Given the description of an element on the screen output the (x, y) to click on. 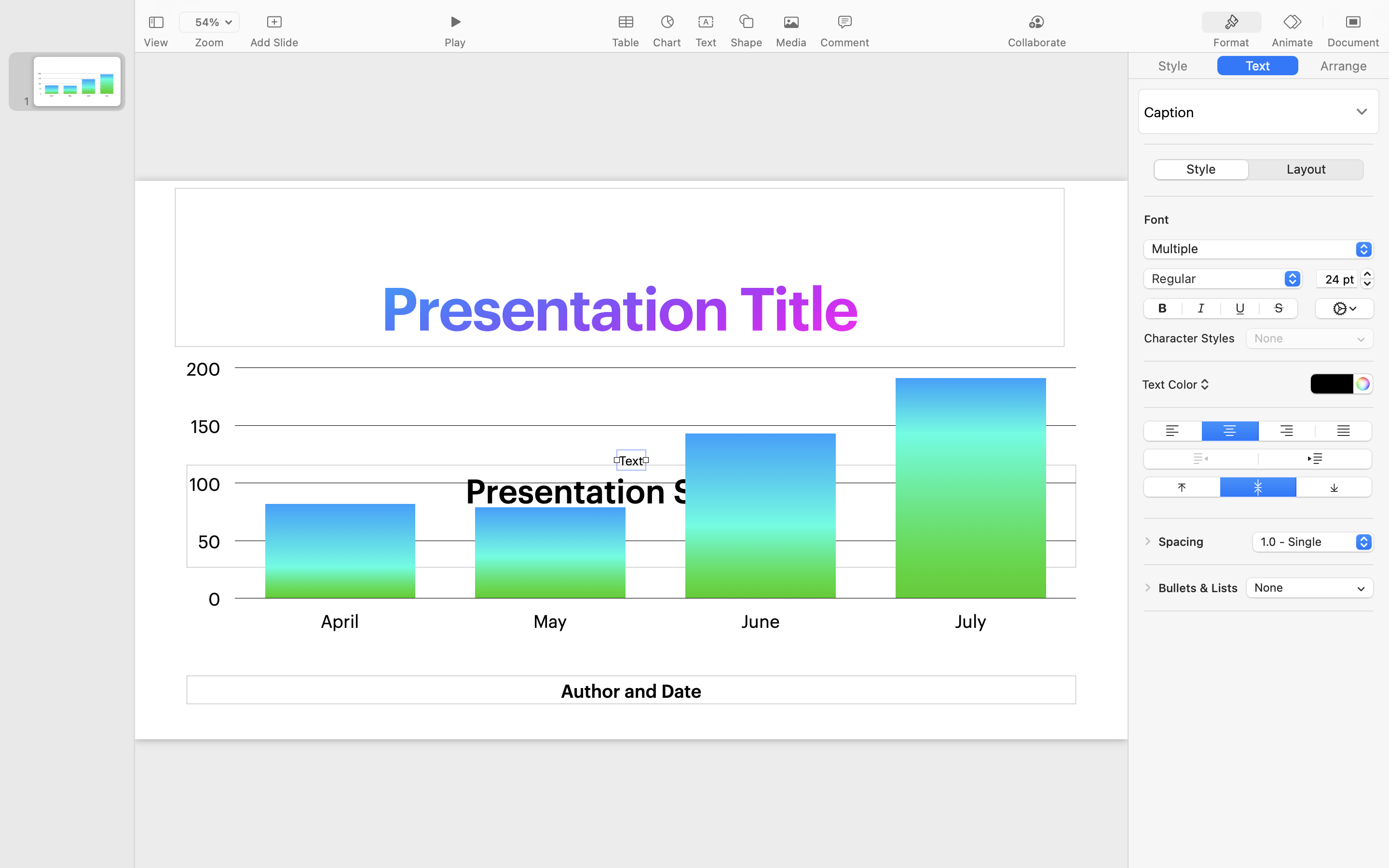
View Element type: AXStaticText (155, 42)
Text Color Element type: AXPopUpButton (1174, 384)
Font Element type: AXStaticText (1156, 219)
Multiple Element type: AXPopUpButton (1259, 250)
